Given the description of an element on the screen output the (x, y) to click on. 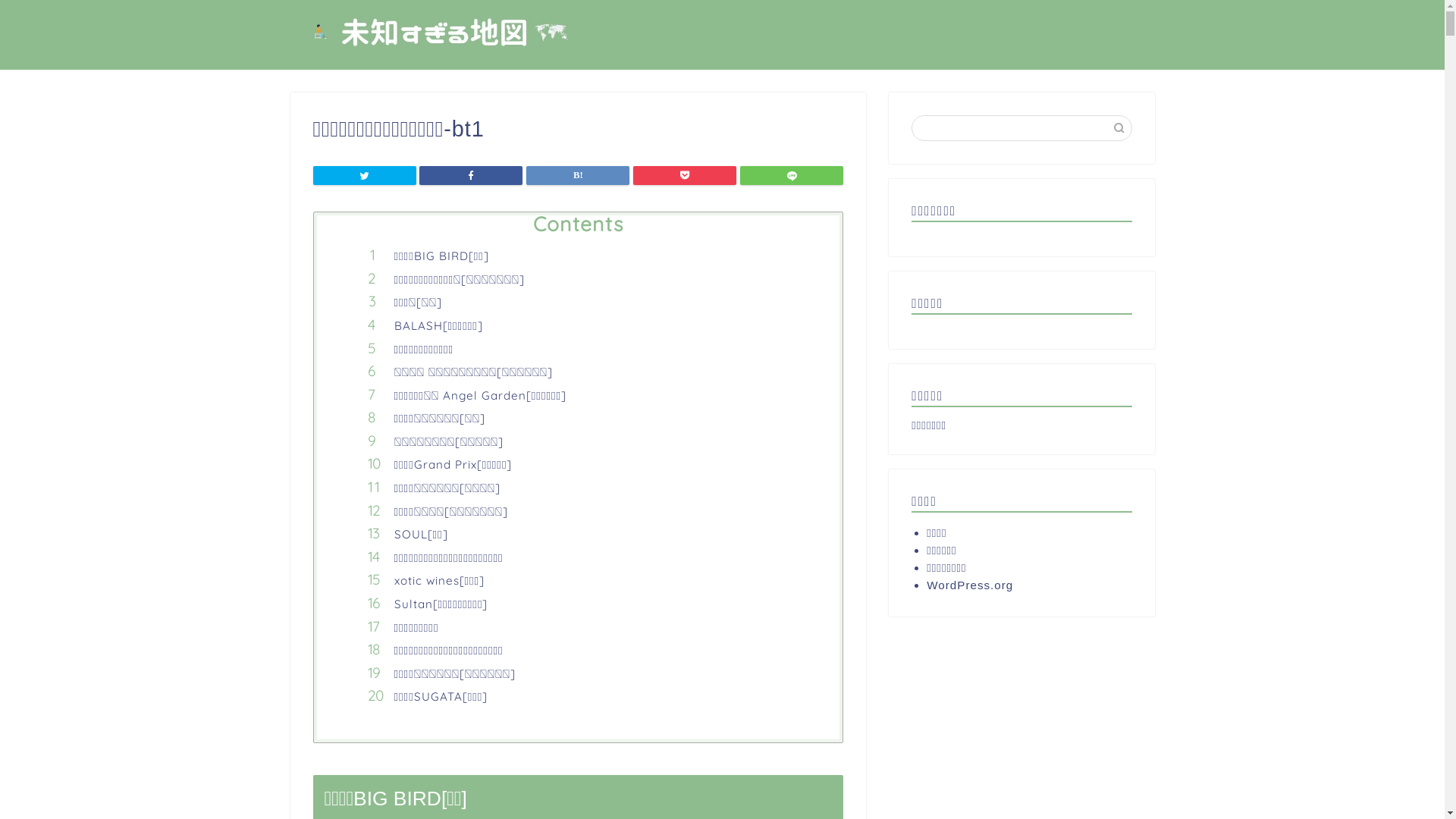
WordPress.org Element type: text (1021, 584)
